Given the description of an element on the screen output the (x, y) to click on. 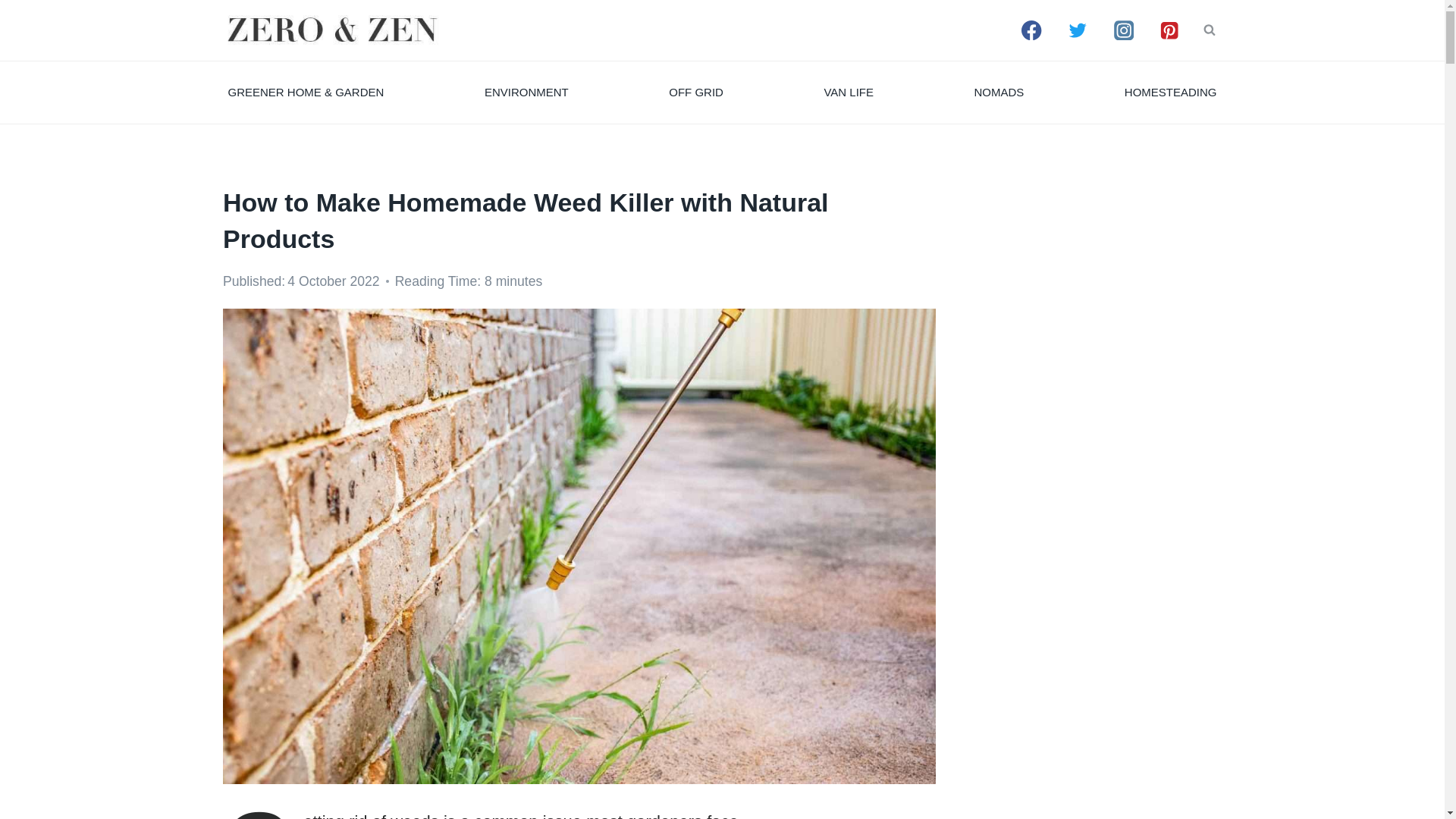
VAN LIFE (848, 92)
Environment Issues  (526, 92)
NOMADS (999, 92)
Advertisement (1107, 739)
HOMESTEADING (1170, 92)
Off The Grid (696, 92)
Greener Home and Garden (305, 92)
ENVIRONMENT (526, 92)
OFF GRID (696, 92)
